Given the description of an element on the screen output the (x, y) to click on. 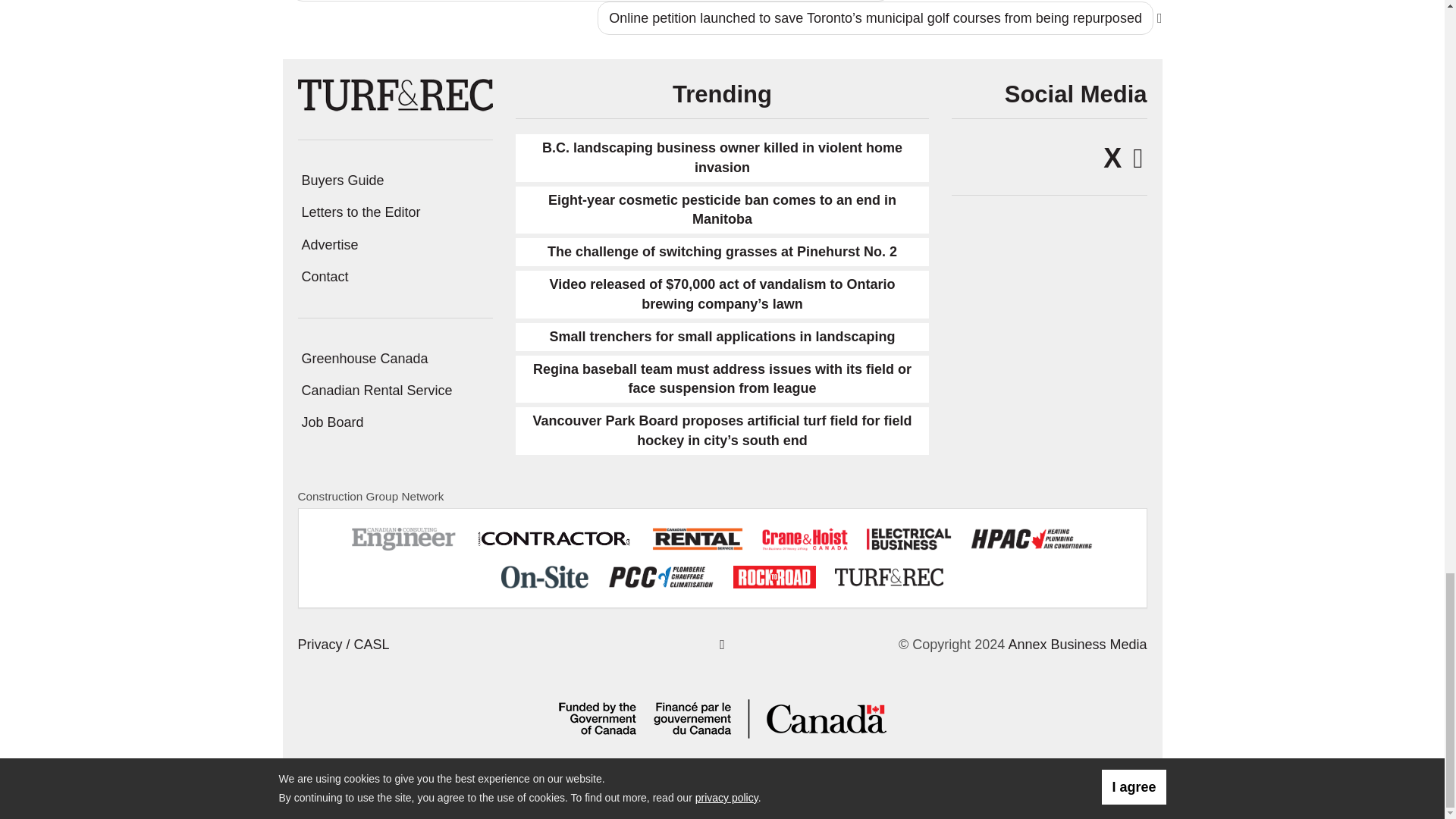
Annex Business Media (1077, 644)
